Given the description of an element on the screen output the (x, y) to click on. 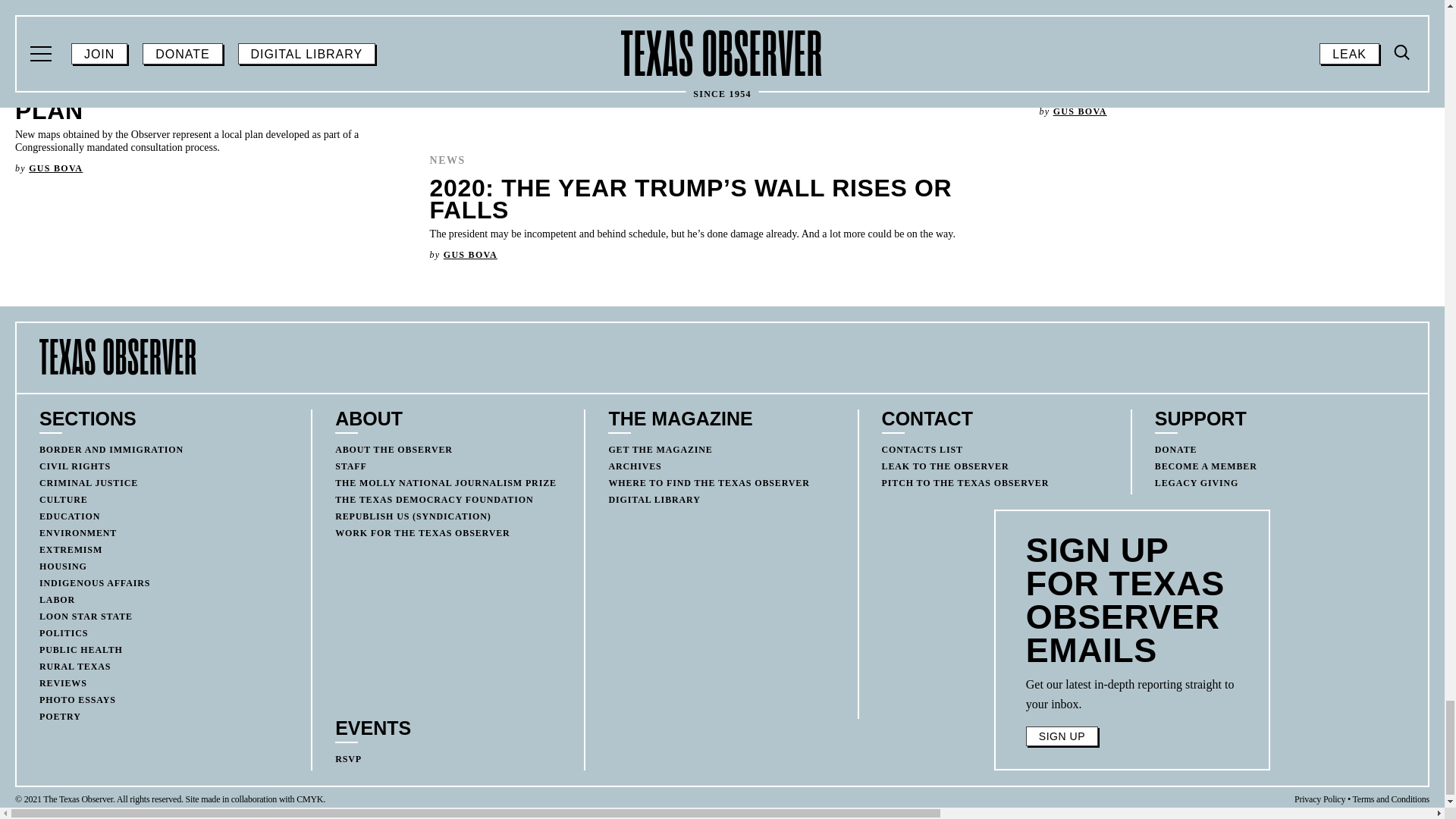
Post by Gus Bova (470, 254)
Post by Gus Bova (55, 167)
Post by Gus Bova (1079, 111)
Page 6 (1132, 694)
